Given the description of an element on the screen output the (x, y) to click on. 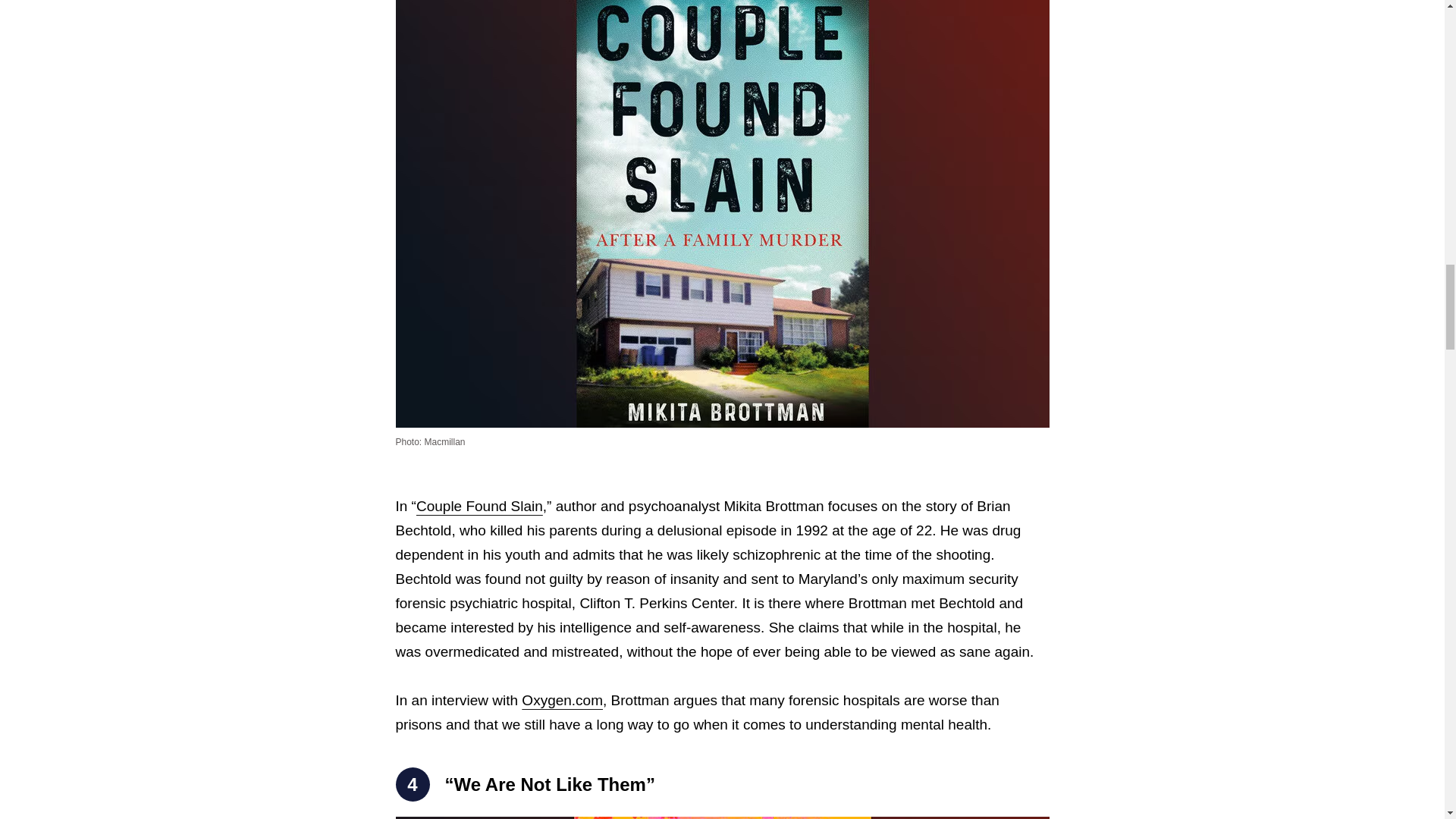
Oxygen.com (561, 700)
Couple Found Slain (479, 505)
